Given the description of an element on the screen output the (x, y) to click on. 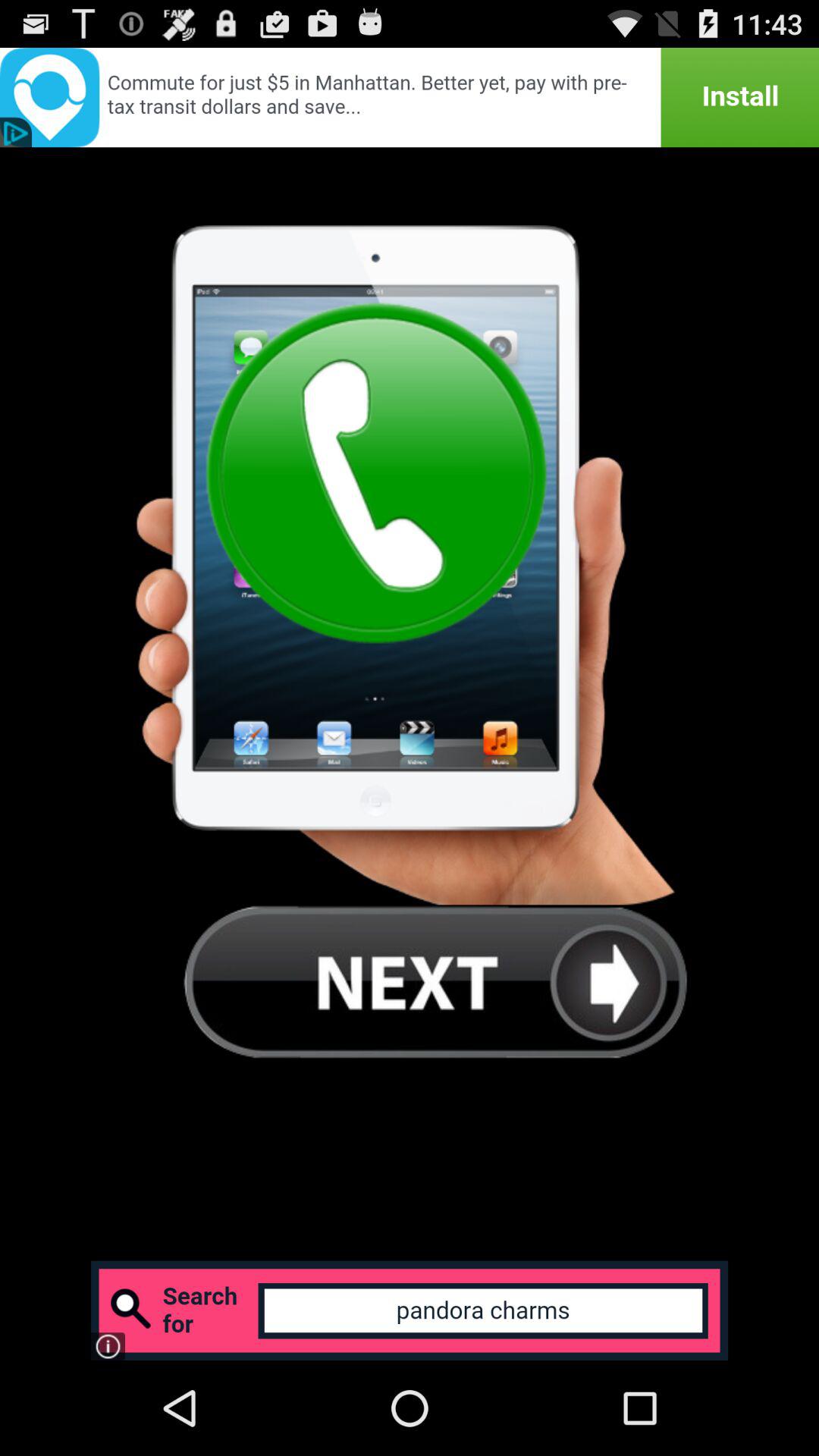
advertisement (409, 1310)
